Given the description of an element on the screen output the (x, y) to click on. 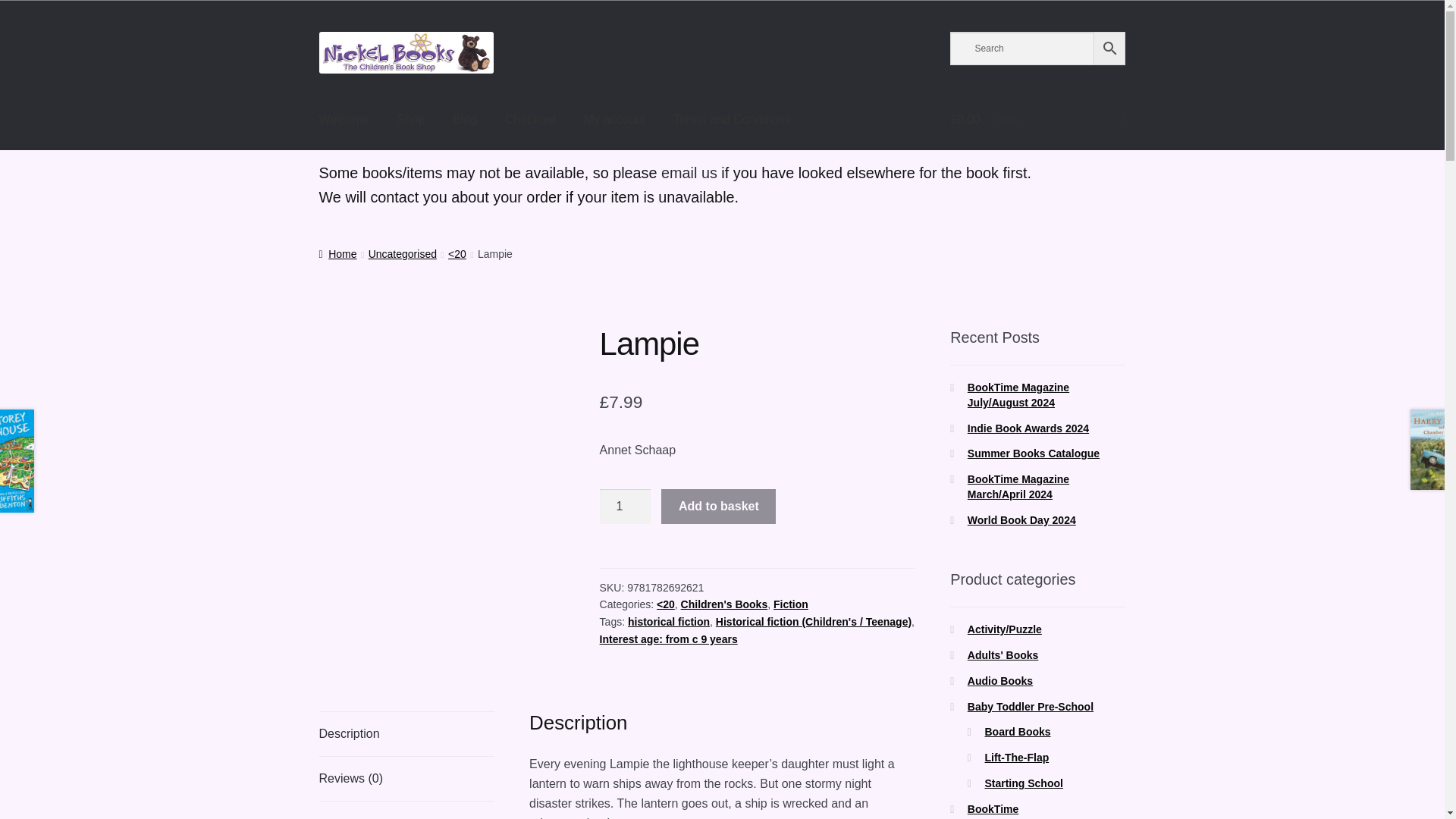
email us (689, 172)
Home (337, 254)
historical fiction (668, 621)
My account (615, 119)
Children's Books (724, 604)
Description (406, 733)
Fiction (790, 604)
Checkout (531, 119)
Interest age: from c 9 years (668, 639)
